Given the description of an element on the screen output the (x, y) to click on. 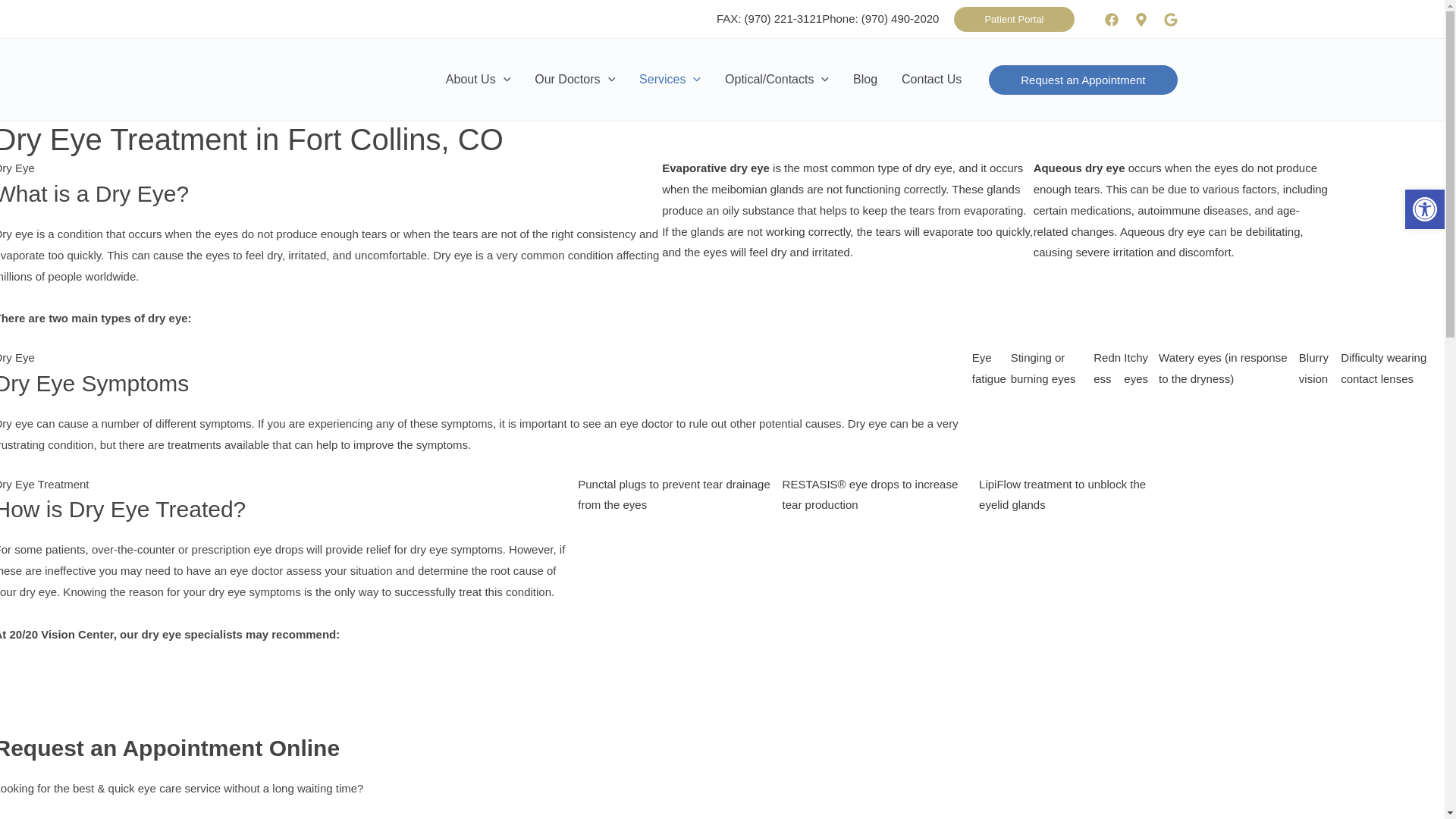
Patient Portal Element type: text (1013, 18)
Our Doctors Element type: text (574, 79)
Optical/Contacts Element type: text (776, 79)
Services Element type: text (669, 79)
Request an Appointment Element type: text (1082, 79)
Contact Us Element type: text (931, 79)
About Us Element type: text (477, 79)
Open toolbar
Accessibility Tools Element type: text (1424, 209)
Blog Element type: text (864, 79)
